Given the description of an element on the screen output the (x, y) to click on. 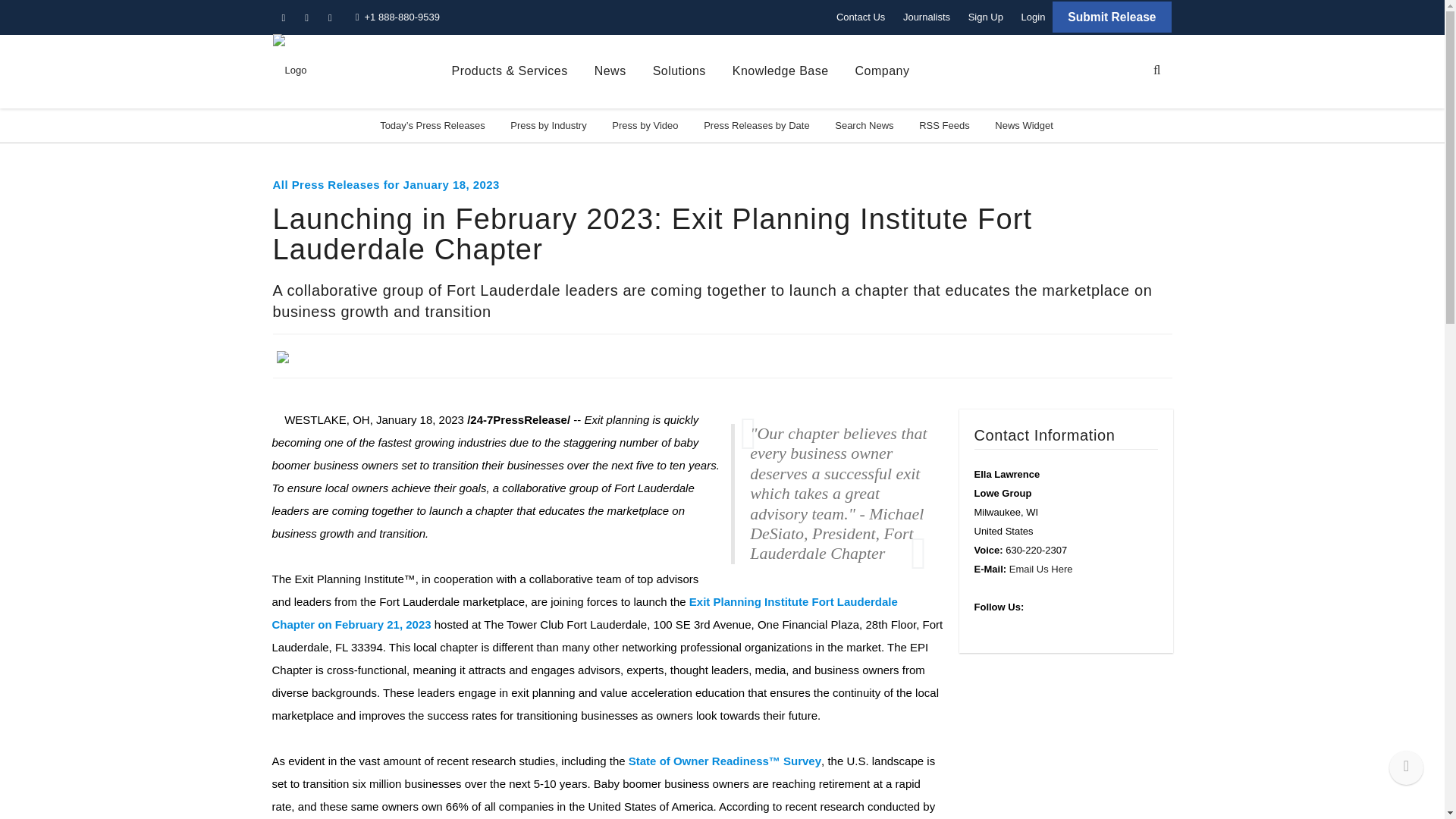
Company (882, 71)
Journalists (926, 16)
Knowledge Base (780, 71)
Solutions (679, 71)
Contact Us (860, 16)
Sign Up (985, 16)
Submit Release (1111, 16)
Login (1032, 16)
